Given the description of an element on the screen output the (x, y) to click on. 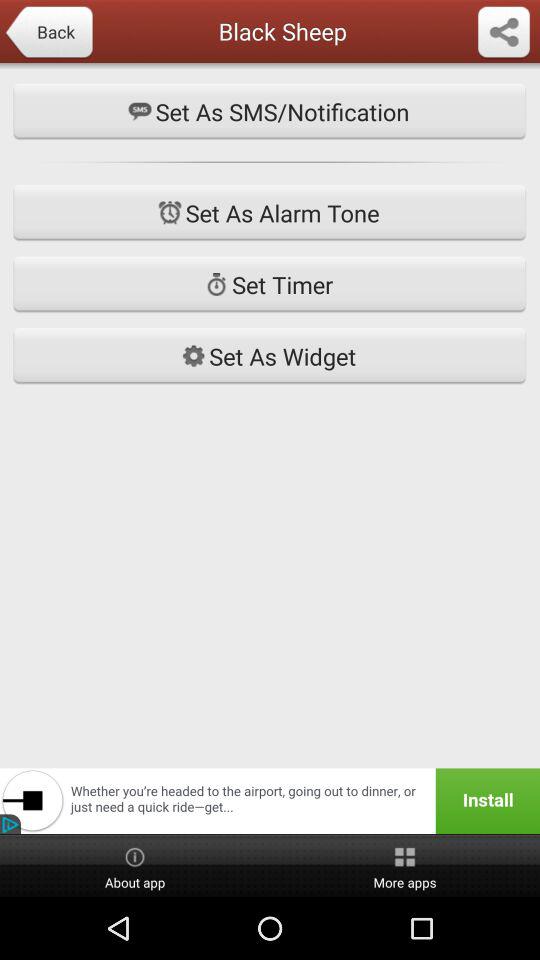
tap the icon next to the about app button (405, 866)
